Given the description of an element on the screen output the (x, y) to click on. 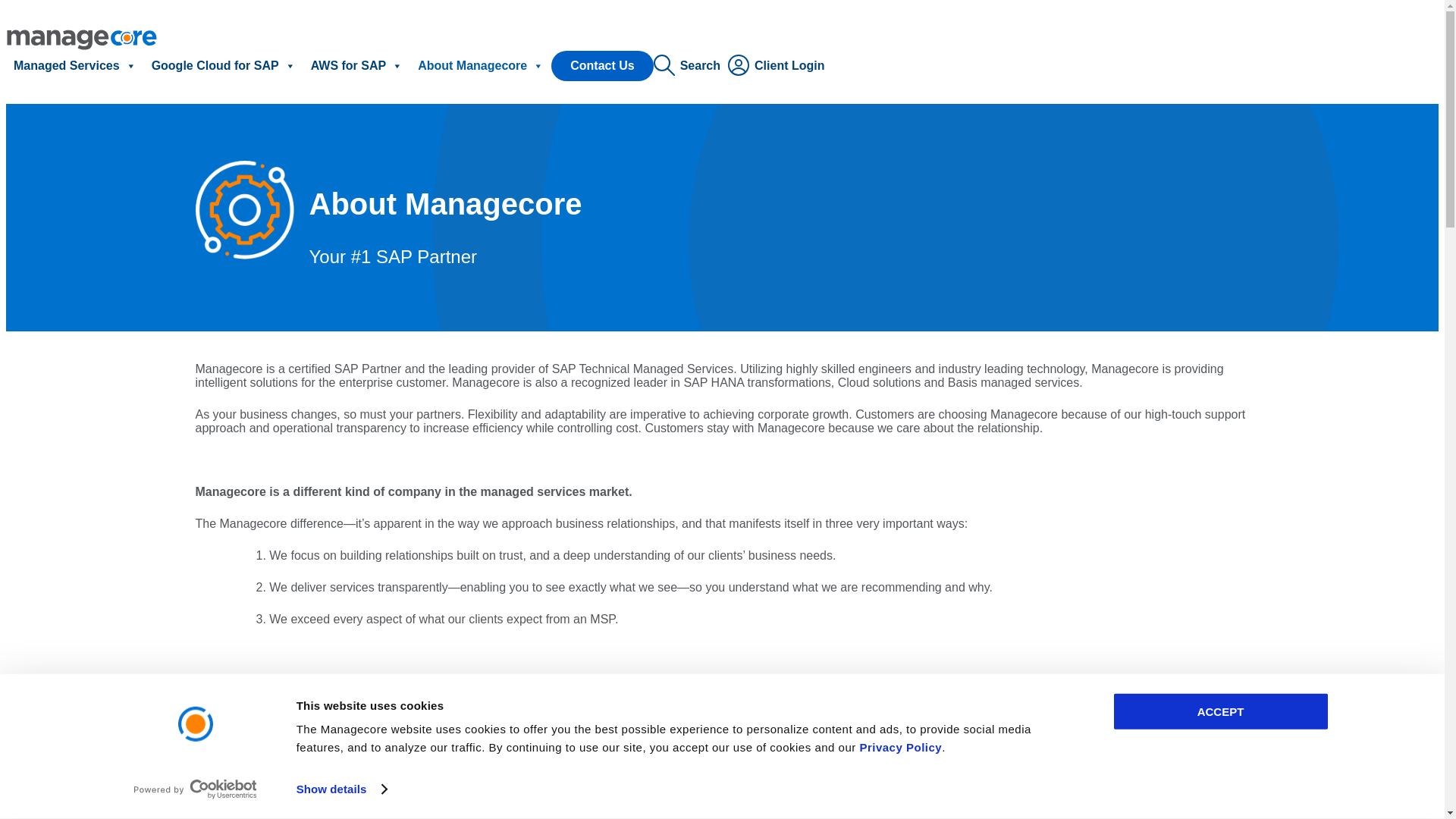
Show details (341, 789)
Privacy Policy (900, 747)
